Given the description of an element on the screen output the (x, y) to click on. 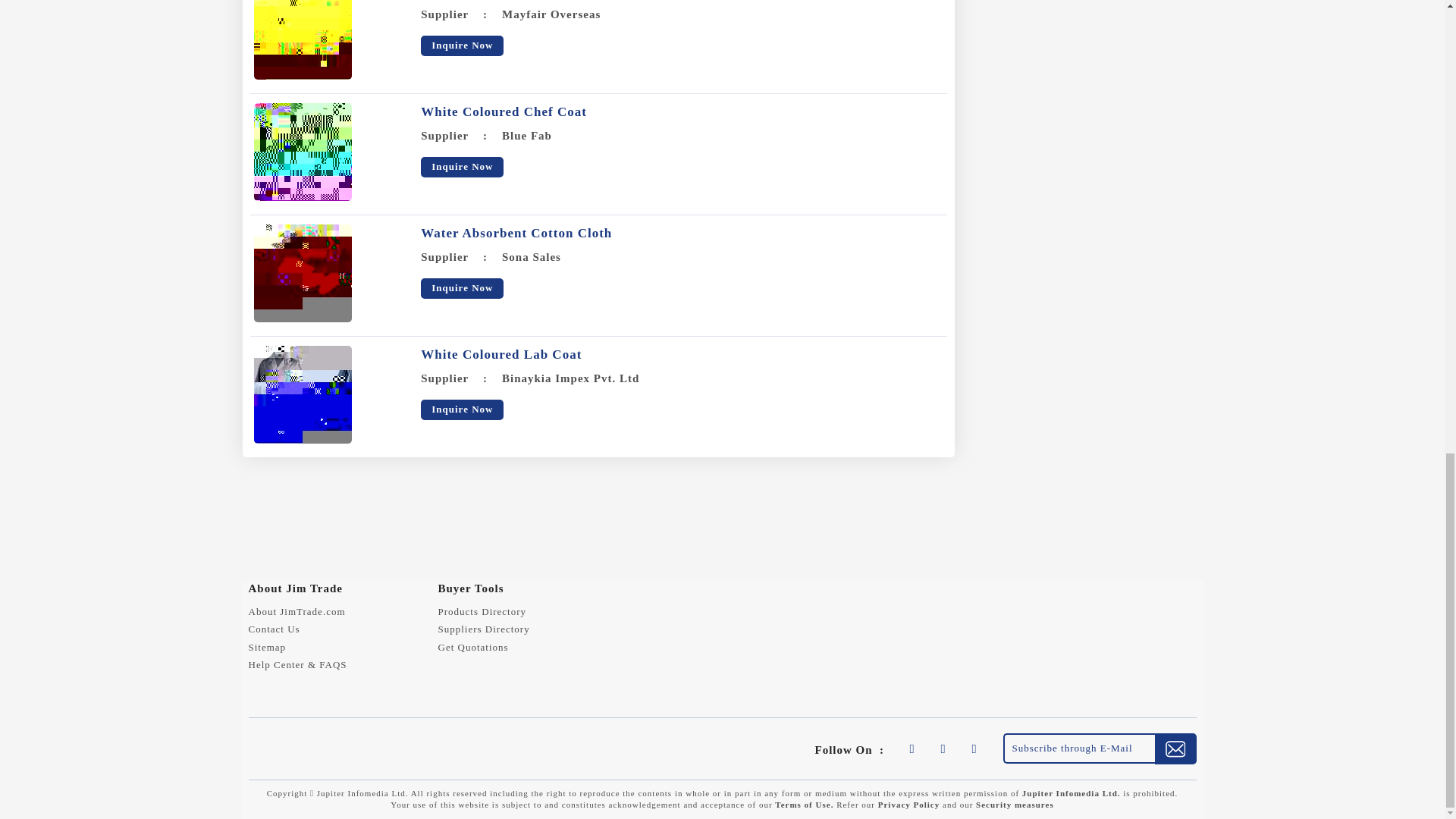
White Coloured Chef Coat (301, 151)
Inquire Now (461, 288)
Inquire Now (461, 409)
Inquire Now (461, 167)
About JimTrade.com (297, 611)
Jupiter Infomedia Ltd. (1071, 792)
Water Absorbent Cotton Cloth (301, 273)
About JimTrade.com (297, 611)
White Coloured Lab Coat (301, 394)
Suppliers Directory (483, 628)
Sitemap (267, 646)
White Coloured Chef Coat (503, 111)
White Coloured Lab Coat (500, 354)
Puffer Coat With Fur Collar (301, 39)
Inquire Now (461, 46)
